Given the description of an element on the screen output the (x, y) to click on. 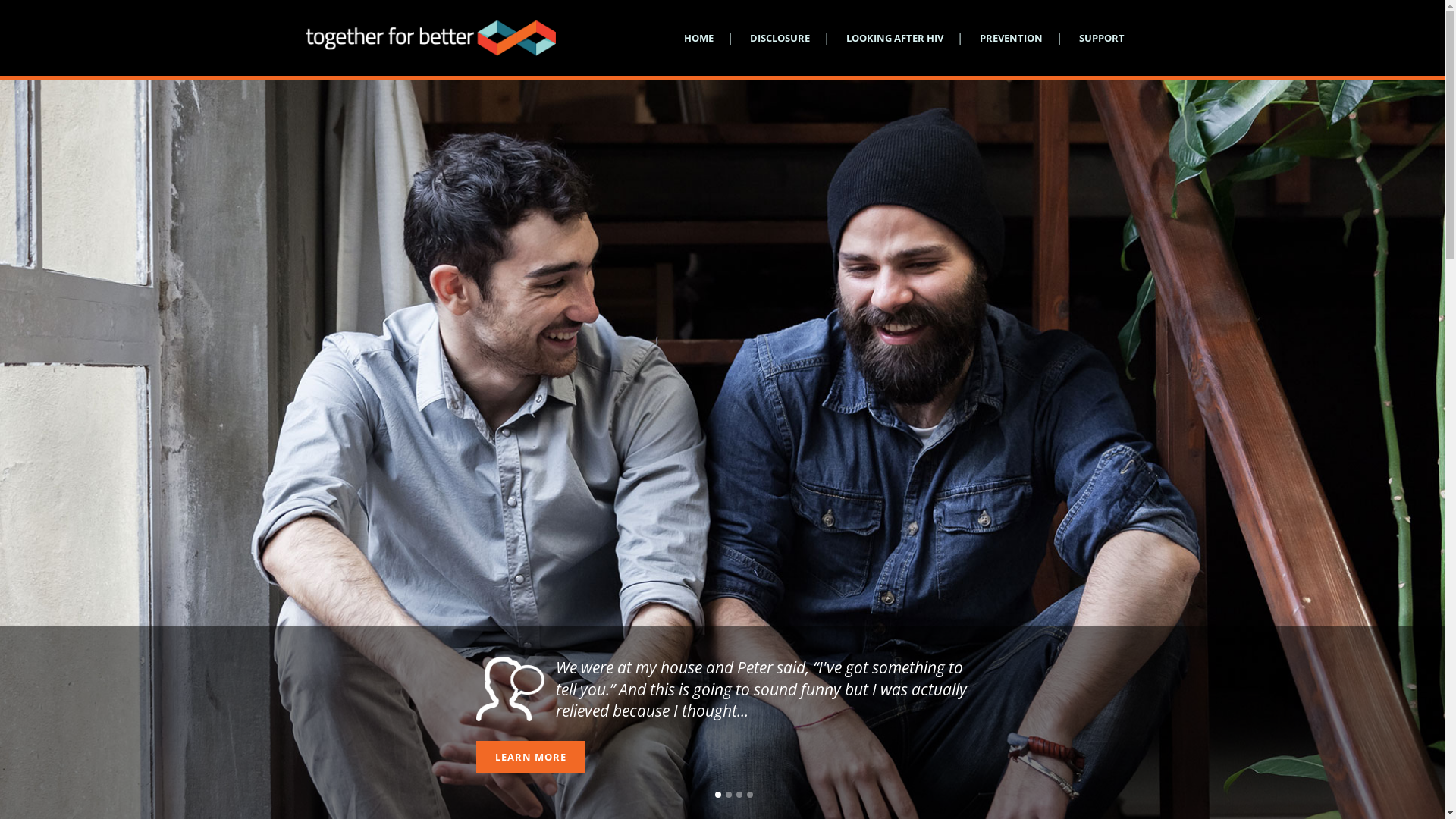
LEARN MORE Element type: text (530, 756)
SUPPORT Element type: text (1101, 37)
HOME Element type: text (698, 37)
PREVENTION Element type: text (1010, 37)
LOOKING AFTER HIV Element type: text (894, 37)
DISCLOSURE Element type: text (779, 37)
